Given the description of an element on the screen output the (x, y) to click on. 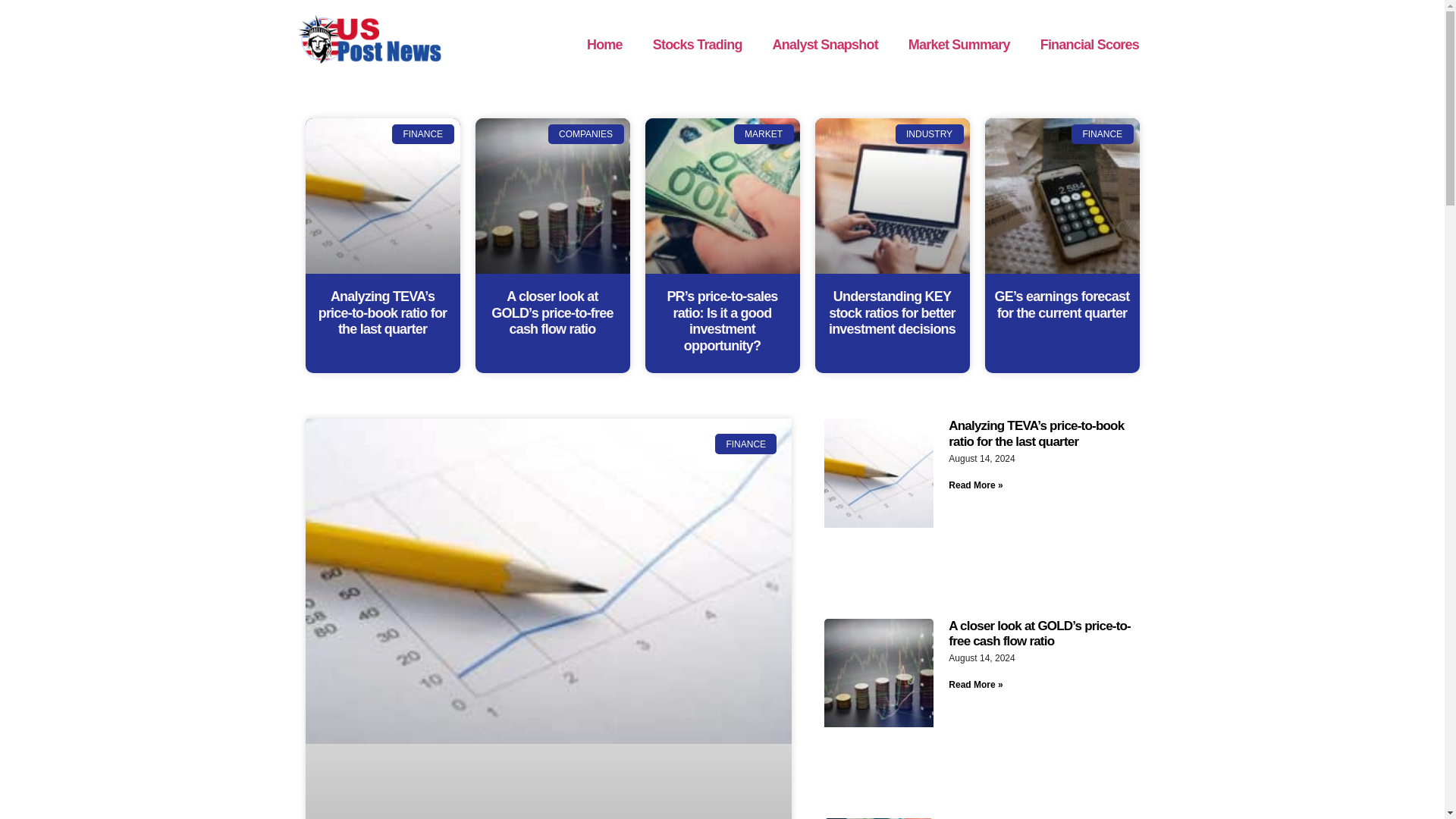
Home (604, 44)
Analyst Snapshot (825, 44)
Stocks Trading (697, 44)
Financial Scores (1089, 44)
Market Summary (959, 44)
